Given the description of an element on the screen output the (x, y) to click on. 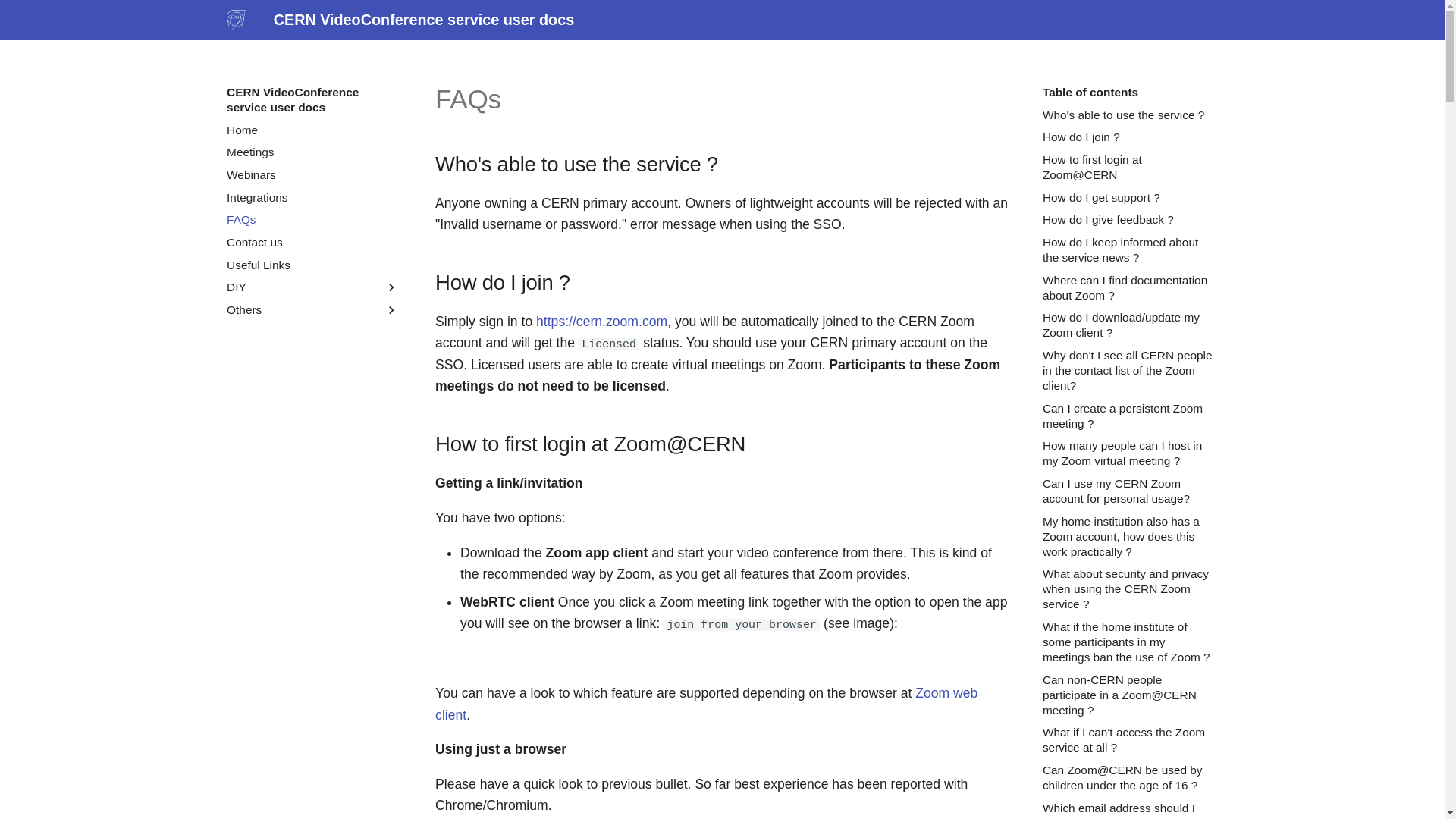
How do I give feedback ? Element type: text (1128, 219)
Can I use my CERN Zoom account for personal usage? Element type: text (1128, 491)
Where can I find documentation about Zoom ? Element type: text (1128, 288)
Contact us Element type: text (312, 242)
Can I create a persistent Zoom meeting ? Element type: text (1128, 416)
Meetings Element type: text (312, 152)
How do I get support ? Element type: text (1128, 197)
How many people can I host in my Zoom virtual meeting ? Element type: text (1128, 453)
How to first login at Zoom@CERN Element type: text (1128, 167)
Who's able to use the service ? Element type: text (1128, 114)
https://cern.zoom.com Element type: text (601, 321)
Can Zoom@CERN be used by children under the age of 16 ? Element type: text (1128, 777)
Zoom web client Element type: text (706, 703)
FAQs Element type: text (312, 219)
How do I keep informed about the service news ? Element type: text (1128, 250)
Webinars Element type: text (312, 174)
Useful Links Element type: text (312, 265)
Home Element type: text (312, 130)
How do I join ? Element type: text (1128, 136)
Integrations Element type: text (312, 197)
What if I can't access the Zoom service at all ? Element type: text (1128, 739)
Can non-CERN people participate in a Zoom@CERN meeting ? Element type: text (1128, 695)
How do I download/update my Zoom client ? Element type: text (1128, 325)
CERN VideoConference service user docs Element type: hover (236, 19)
